Given the description of an element on the screen output the (x, y) to click on. 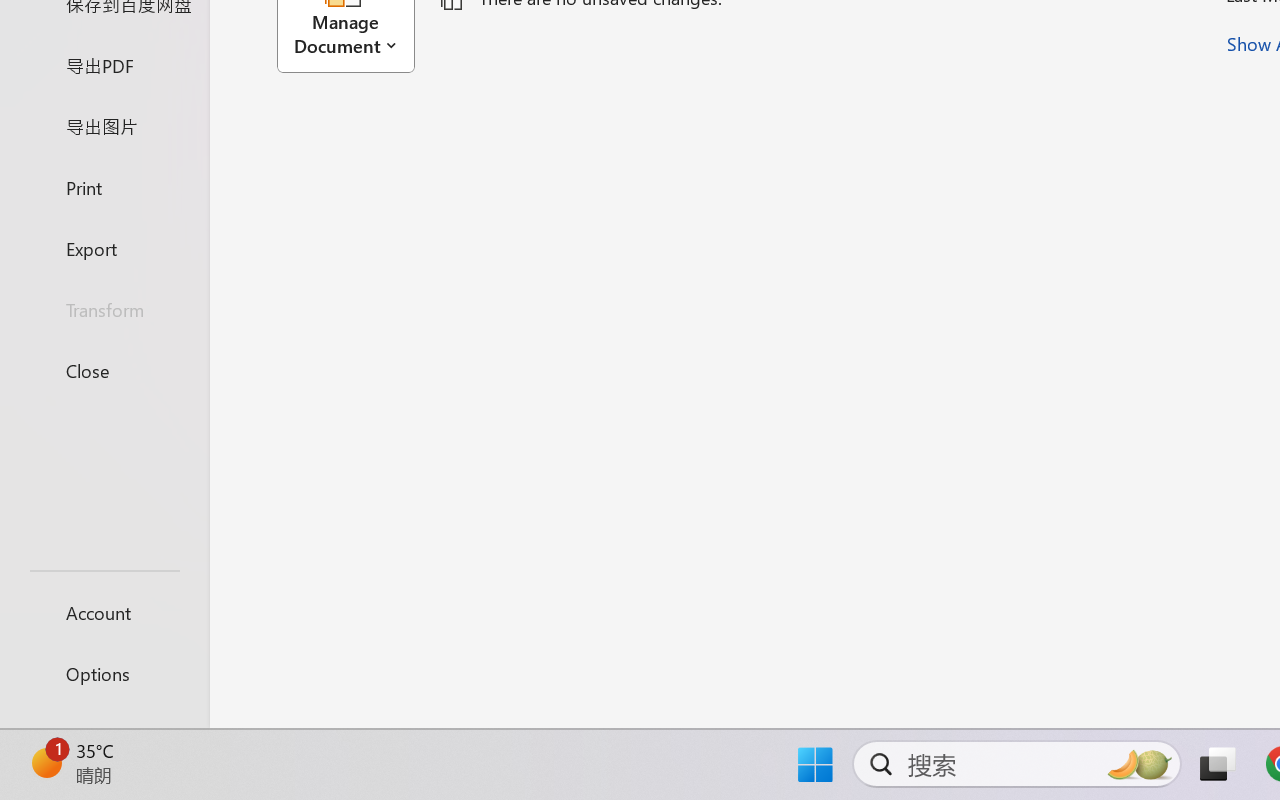
Transform (104, 309)
Options (104, 673)
Print (104, 186)
Export (104, 248)
Account (104, 612)
